Given the description of an element on the screen output the (x, y) to click on. 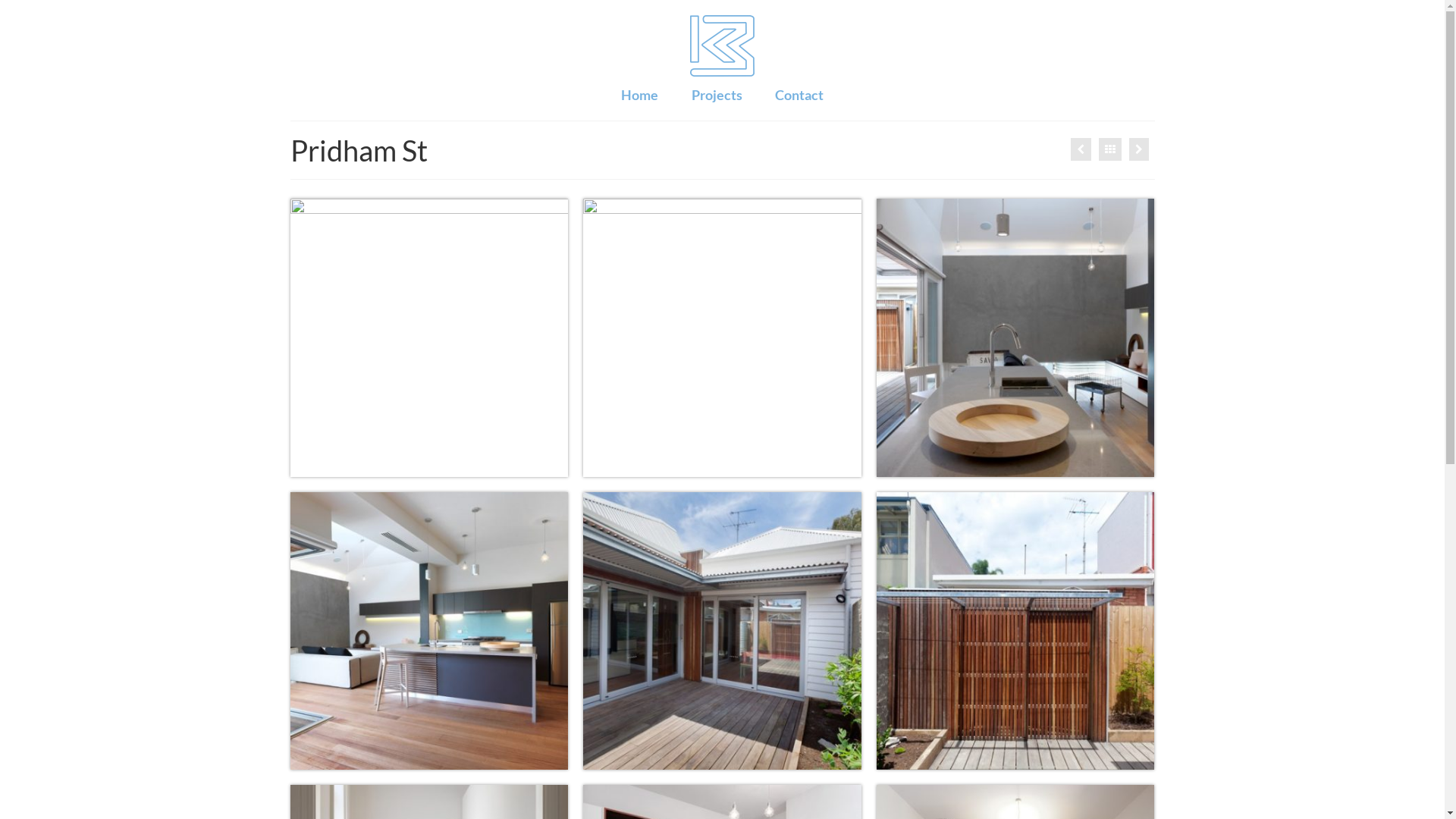
Home Element type: text (639, 94)
Projects Element type: text (716, 94)
Livingstone Rd Element type: hover (1080, 149)
A place in the sun Element type: hover (1138, 149)
Contact Element type: text (798, 94)
